Given the description of an element on the screen output the (x, y) to click on. 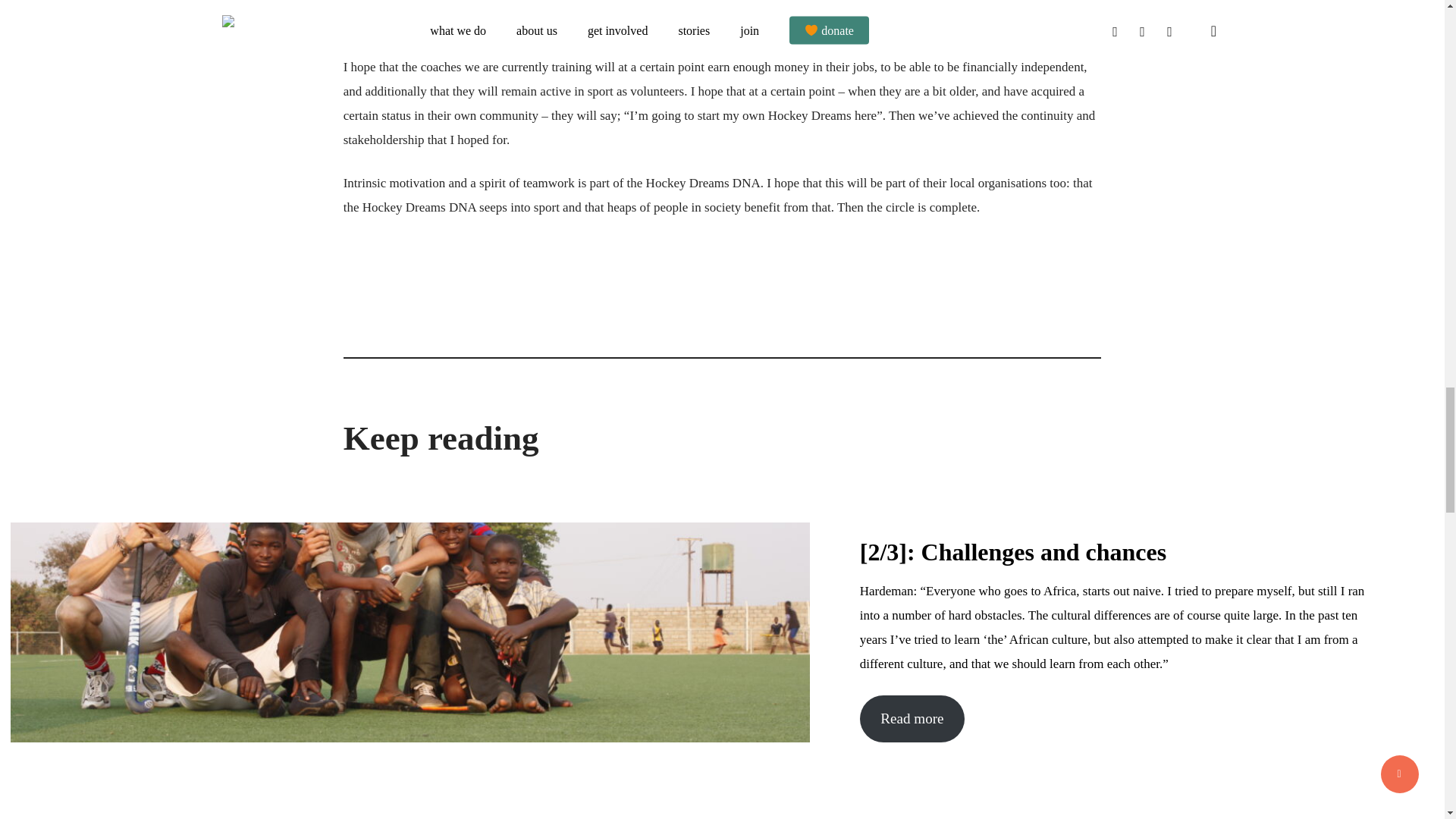
Read more (911, 718)
